Given the description of an element on the screen output the (x, y) to click on. 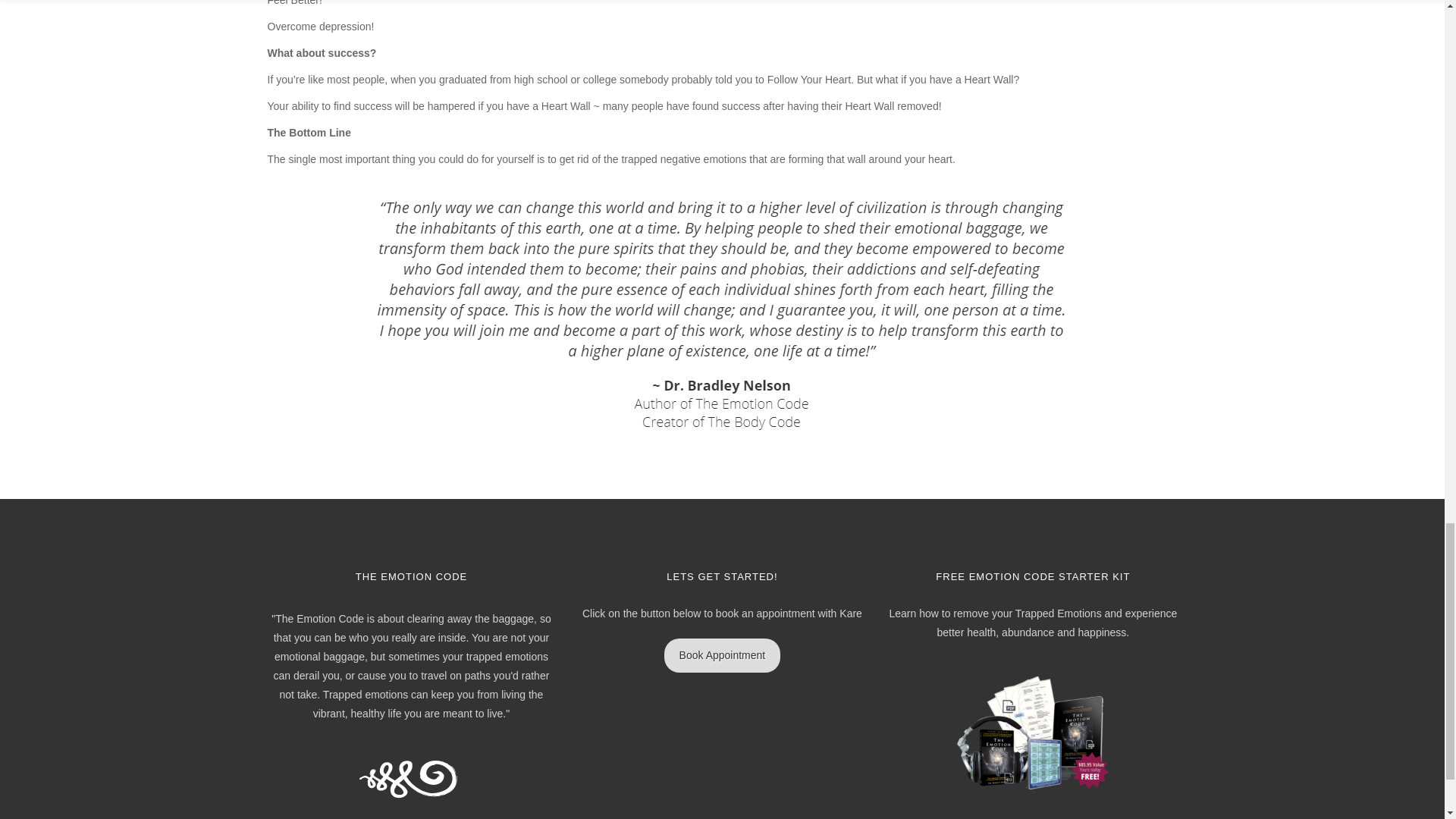
Book Appointment (721, 655)
